Given the description of an element on the screen output the (x, y) to click on. 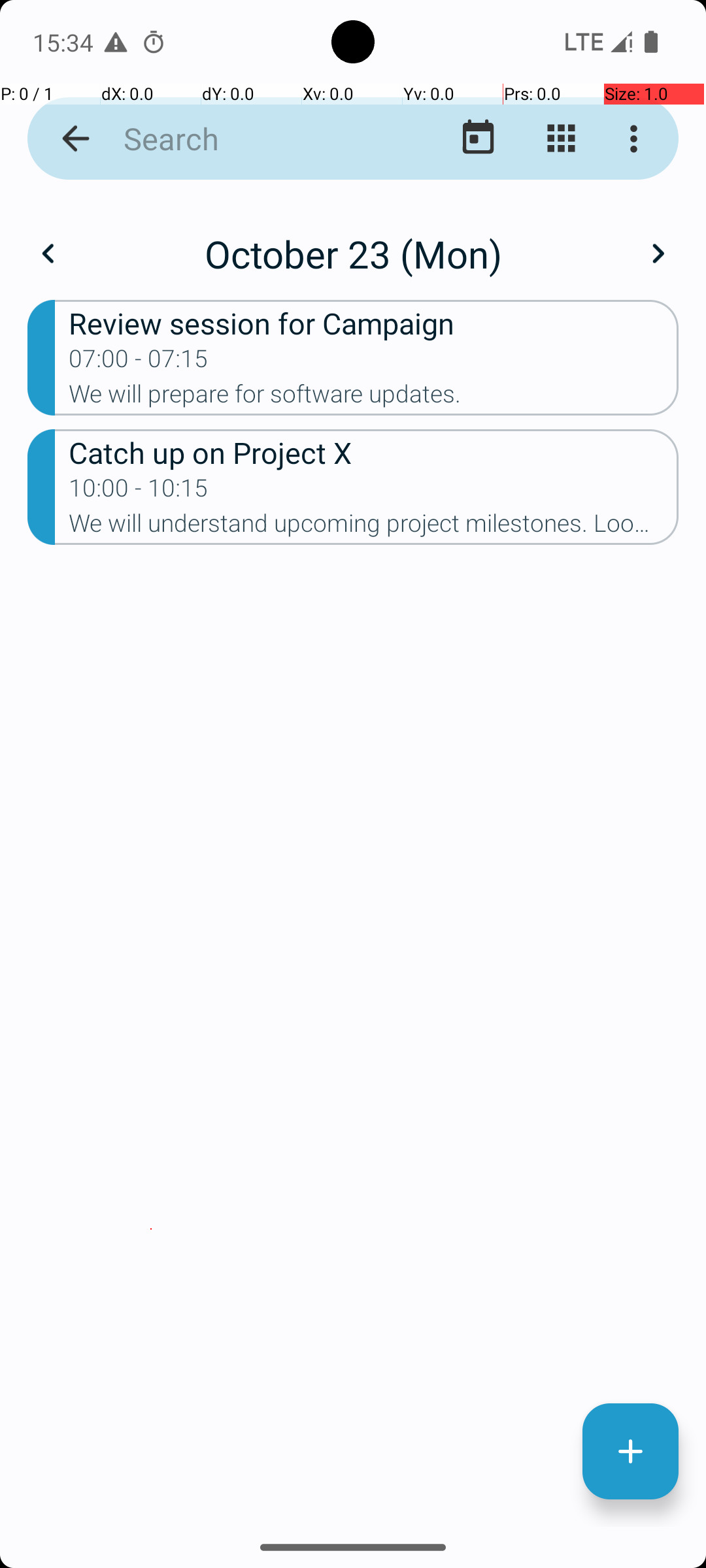
October 23 (Mon) Element type: android.widget.TextView (352, 253)
Review session for Campaign Element type: android.widget.TextView (373, 321)
07:00 - 07:15 Element type: android.widget.TextView (137, 362)
We will prepare for software updates. Element type: android.widget.TextView (373, 397)
Catch up on Project X Element type: android.widget.TextView (373, 451)
10:00 - 10:15 Element type: android.widget.TextView (137, 491)
We will understand upcoming project milestones. Looking forward to productive discussions. Element type: android.widget.TextView (373, 526)
